Given the description of an element on the screen output the (x, y) to click on. 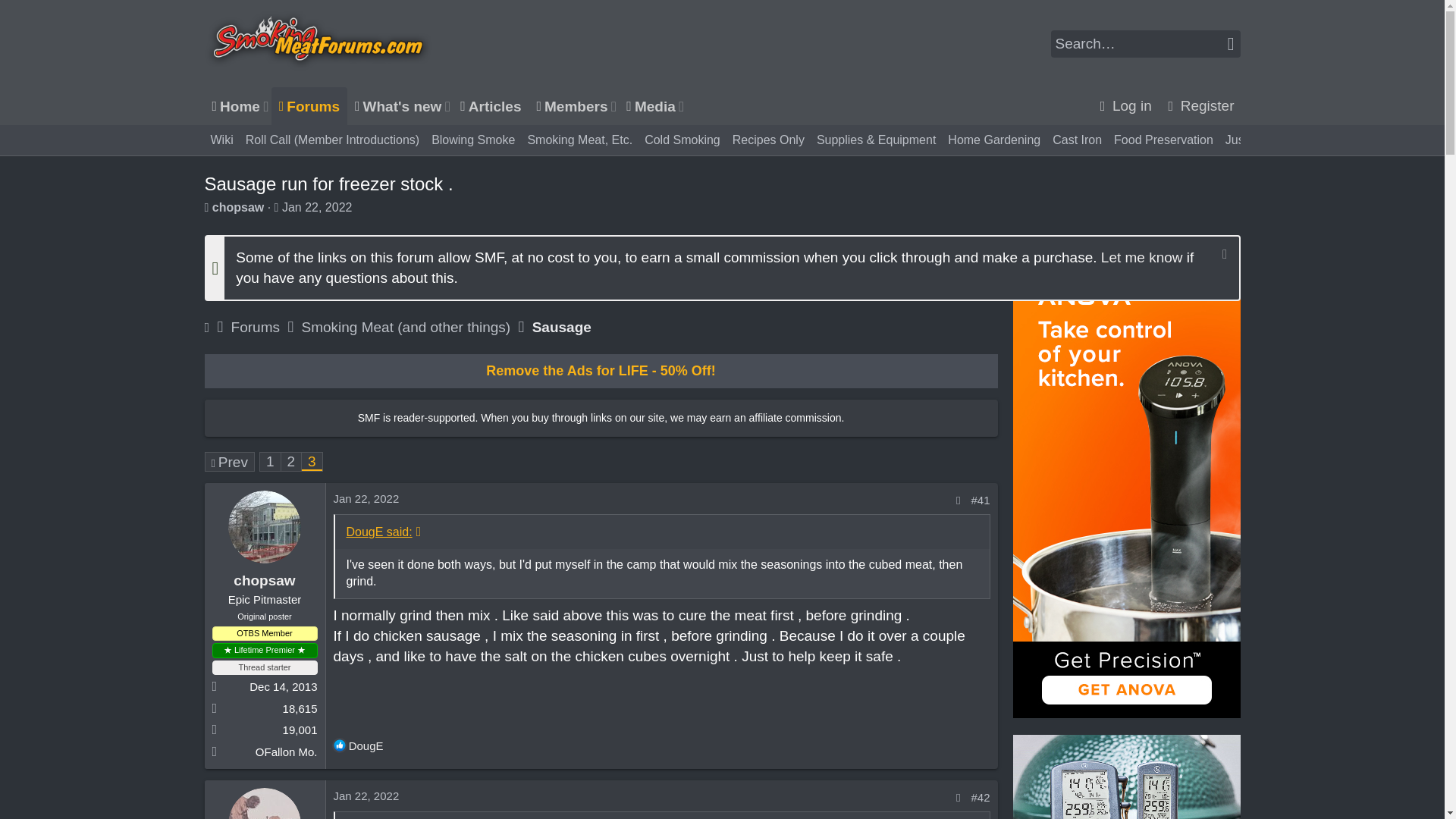
Forums (308, 105)
Home (233, 105)
Jan 22, 2022 at 8:50 AM (446, 105)
What's new (446, 105)
